Given the description of an element on the screen output the (x, y) to click on. 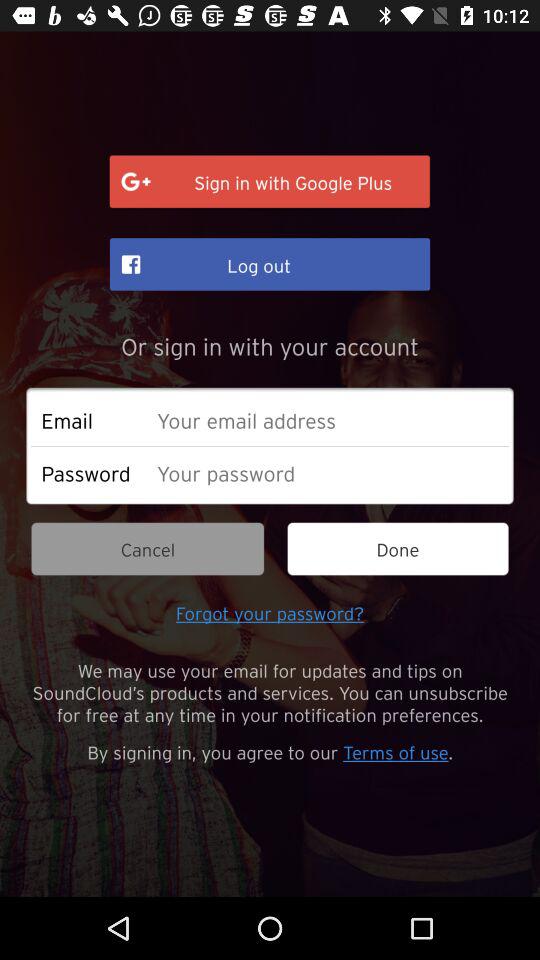
press the icon next to the cancel (397, 548)
